Given the description of an element on the screen output the (x, y) to click on. 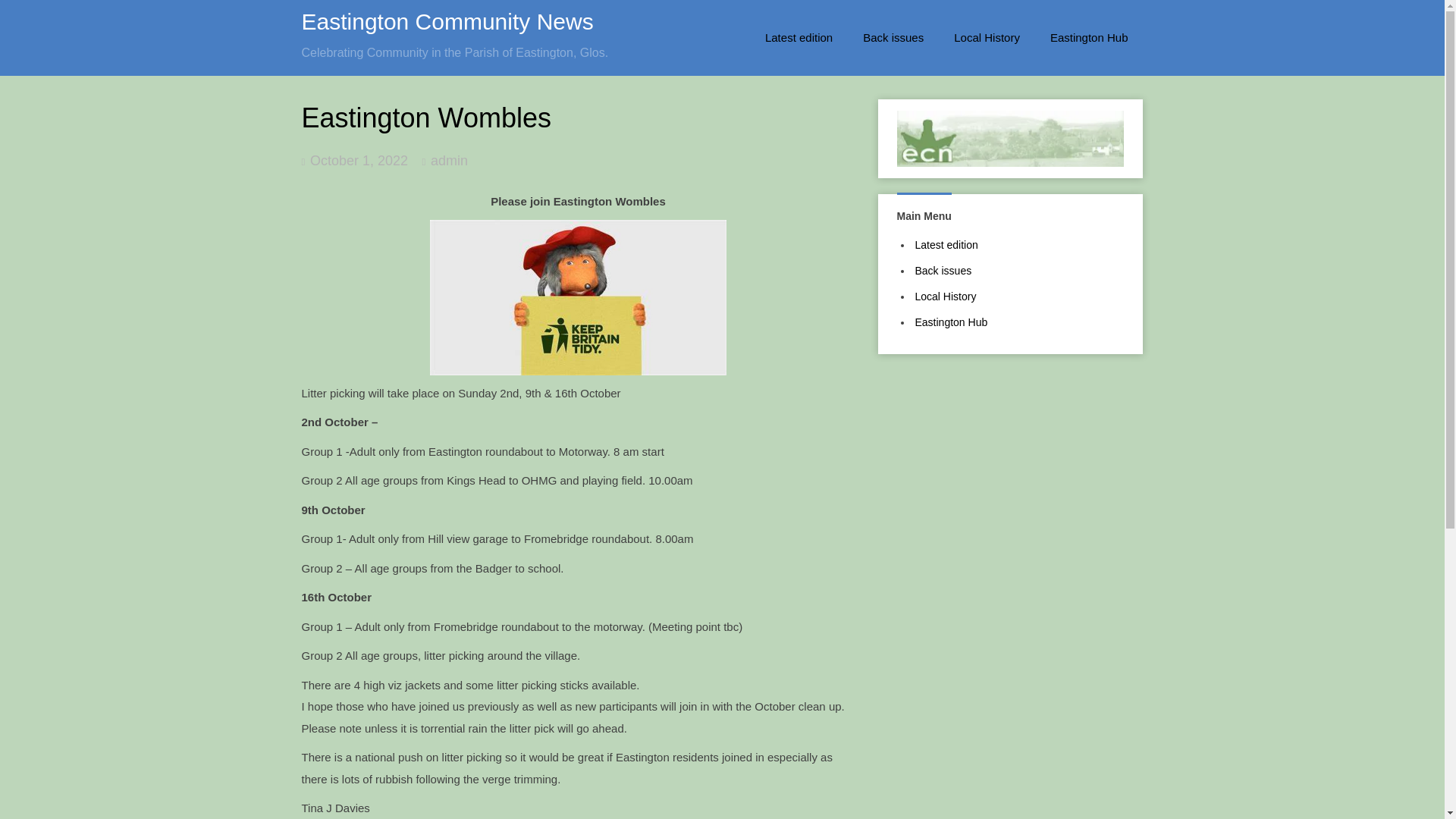
Eastington Hub (950, 321)
Latest edition (945, 244)
Local History (944, 296)
Back issues (942, 270)
Local History (986, 38)
admin (448, 160)
Latest edition (798, 38)
Eastington Hub (1088, 38)
Back issues (893, 38)
Eastington Community News (447, 21)
October 1, 2022 (358, 160)
